Given the description of an element on the screen output the (x, y) to click on. 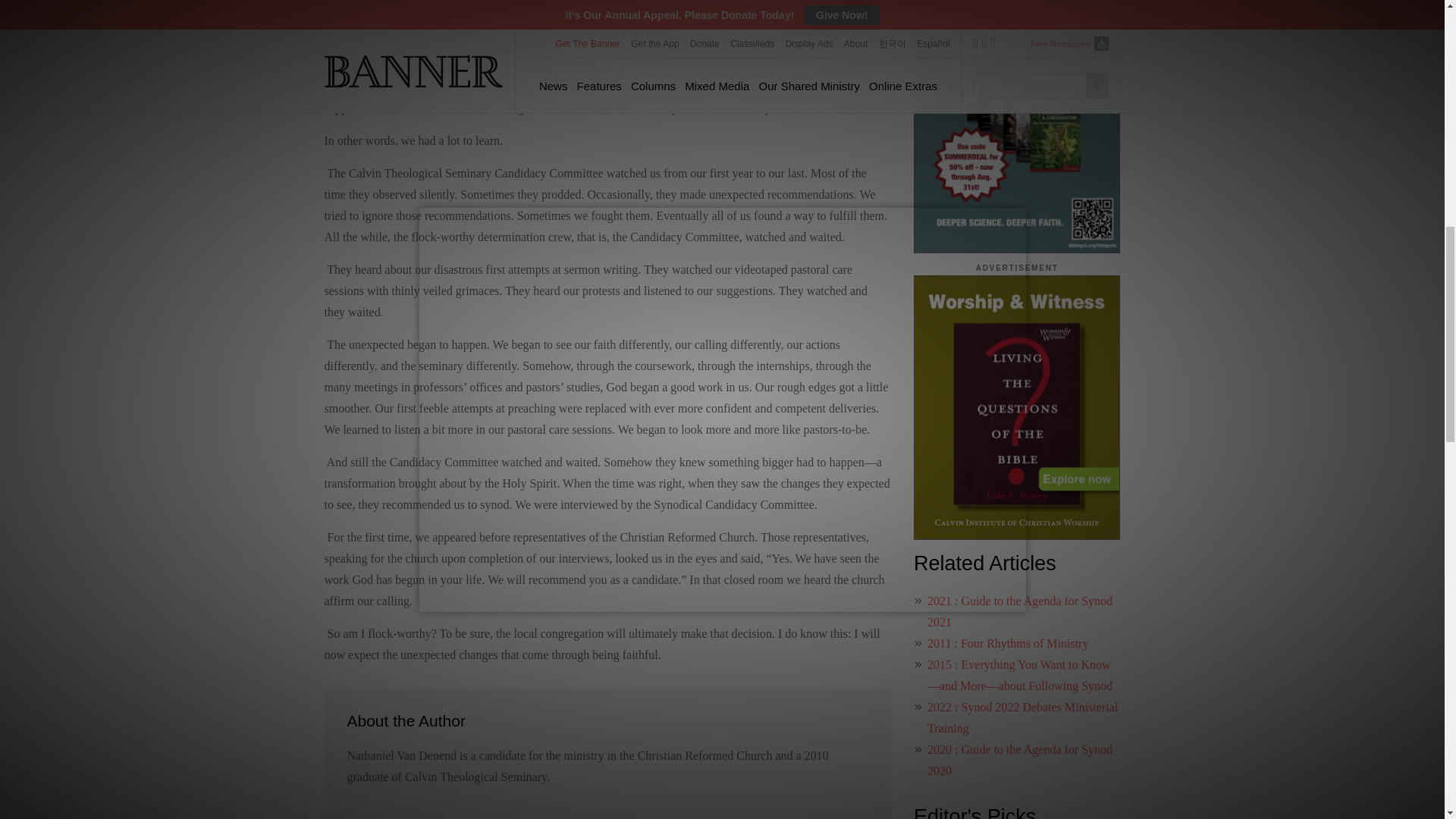
2020 : Guide to the Agenda for Synod 2020 (1019, 759)
2011 : Four Rhythms of Ministry (1007, 643)
2021 : Guide to the Agenda for Synod 2021 (1019, 611)
2022 : Synod 2022 Debates Ministerial Training (1022, 717)
